Given the description of an element on the screen output the (x, y) to click on. 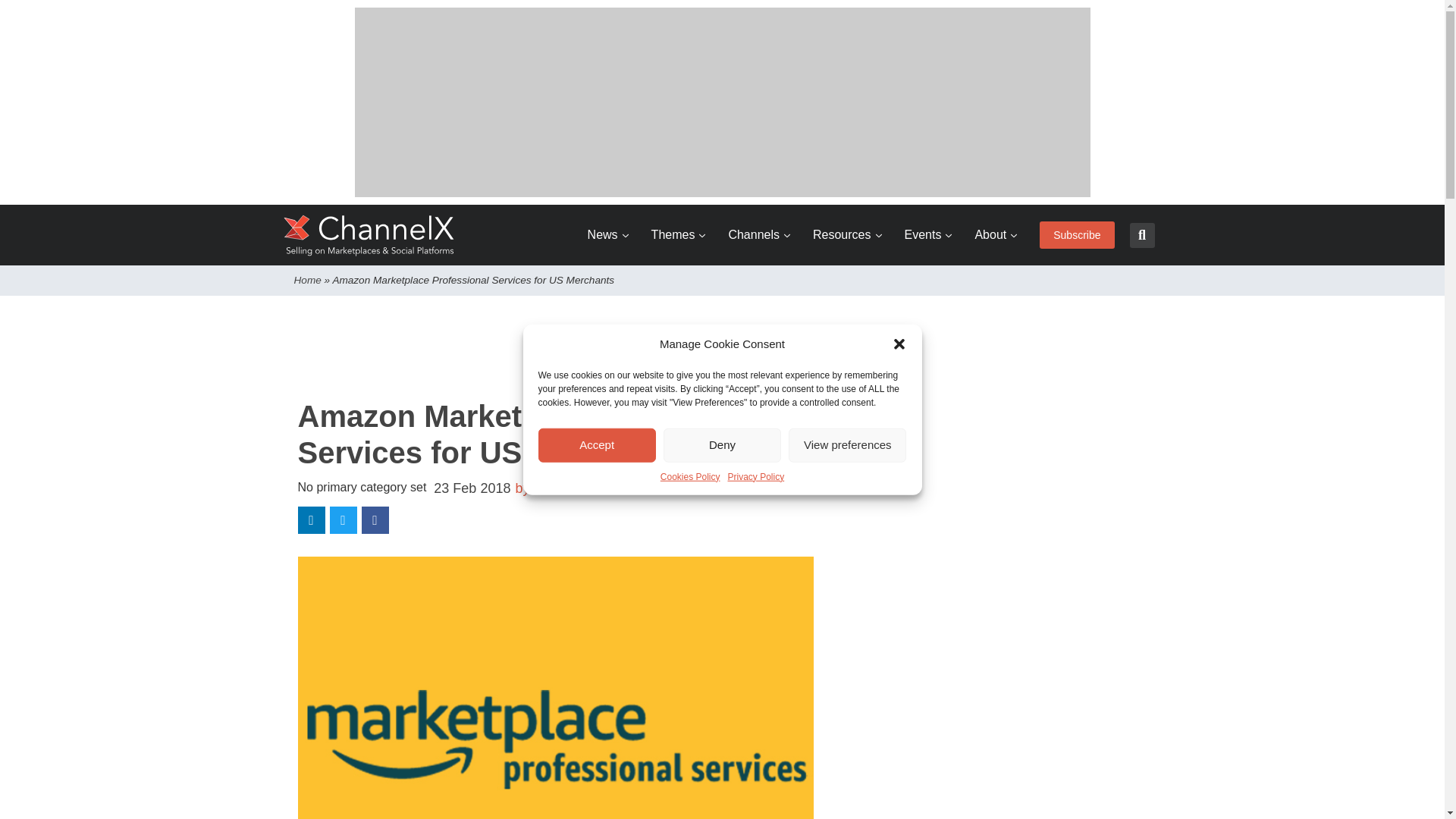
Accept (597, 444)
Deny (721, 444)
ChannelX Home Page (369, 234)
News (607, 234)
Themes (678, 234)
Channels (758, 234)
Privacy Policy (756, 476)
Cookies Policy (690, 476)
View preferences (847, 444)
